Given the description of an element on the screen output the (x, y) to click on. 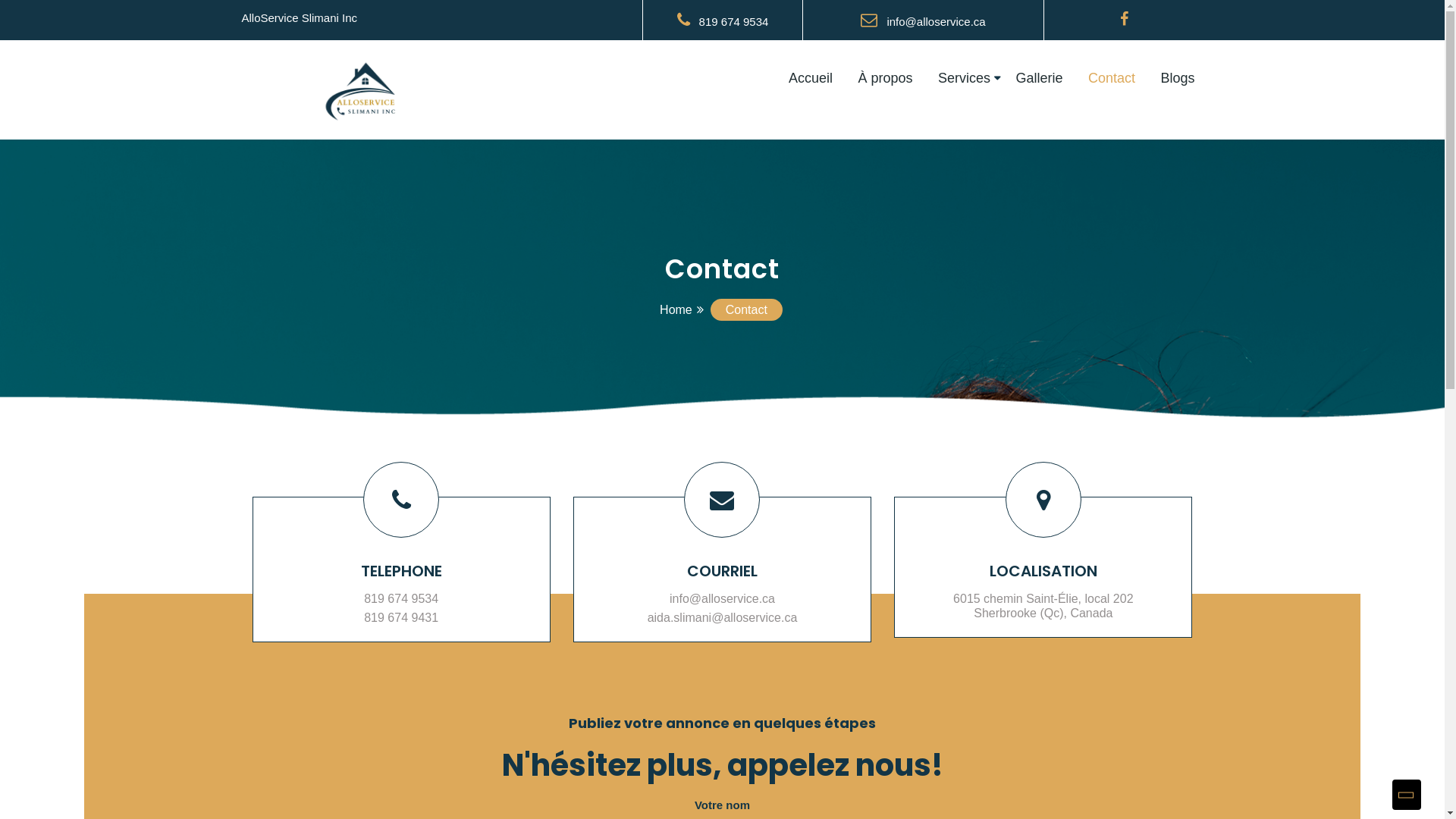
Home Element type: text (675, 309)
819 674 9431 Element type: text (401, 617)
AlloService Slimani Inc Element type: text (299, 17)
Accueil Element type: text (810, 78)
Blogs Element type: text (1177, 78)
819 674 9534 Element type: text (401, 598)
Services Element type: text (963, 78)
819 674 9534 Element type: text (722, 21)
aida.slimani@alloservice.ca Element type: text (722, 617)
info@alloservice.ca Element type: text (722, 598)
Facebook Element type: hover (1123, 19)
Contact Element type: text (1111, 78)
info@alloservice.ca Element type: text (922, 21)
Gallerie Element type: text (1038, 78)
